Given the description of an element on the screen output the (x, y) to click on. 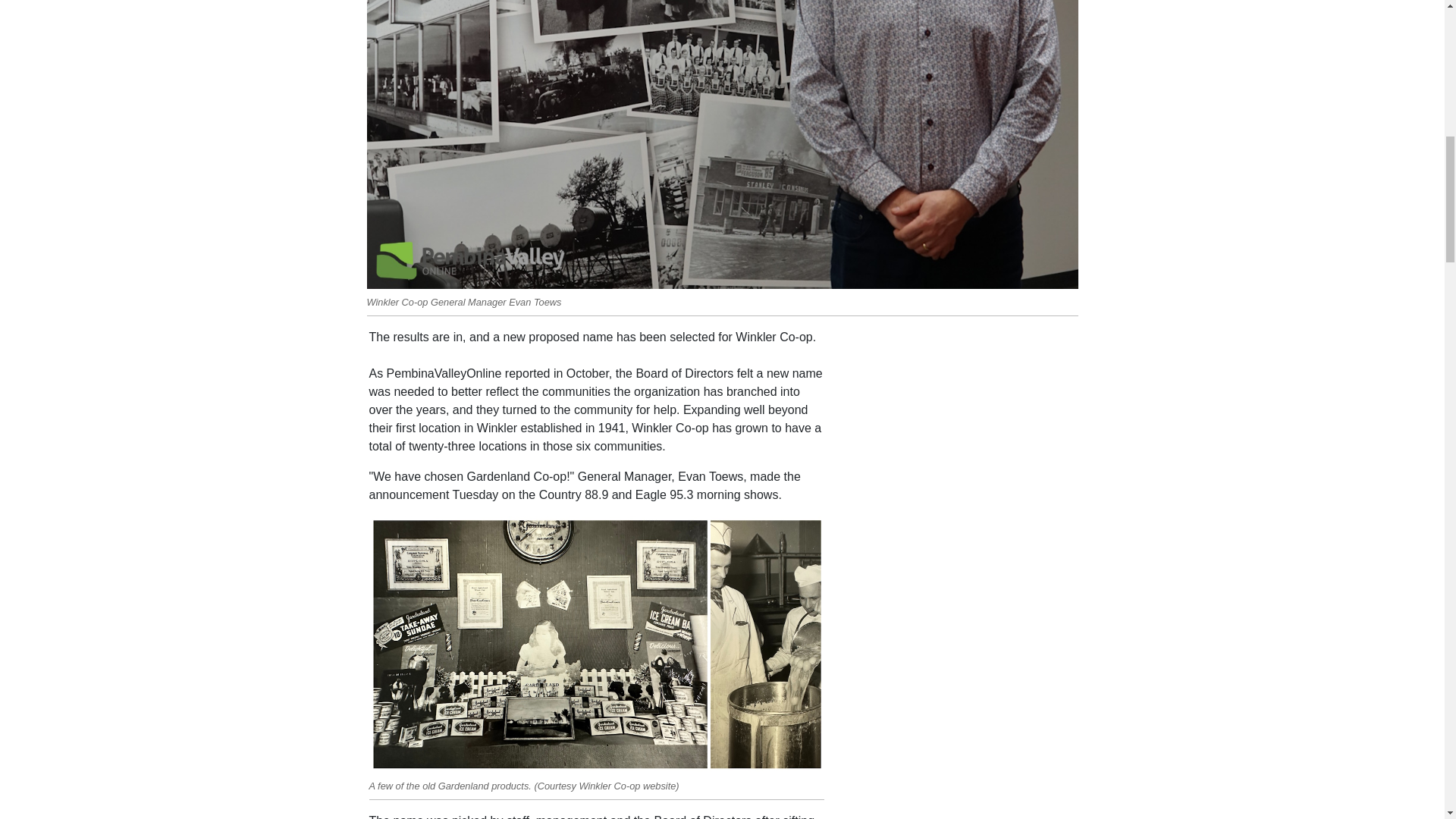
3rd party ad content (961, 422)
